Given the description of an element on the screen output the (x, y) to click on. 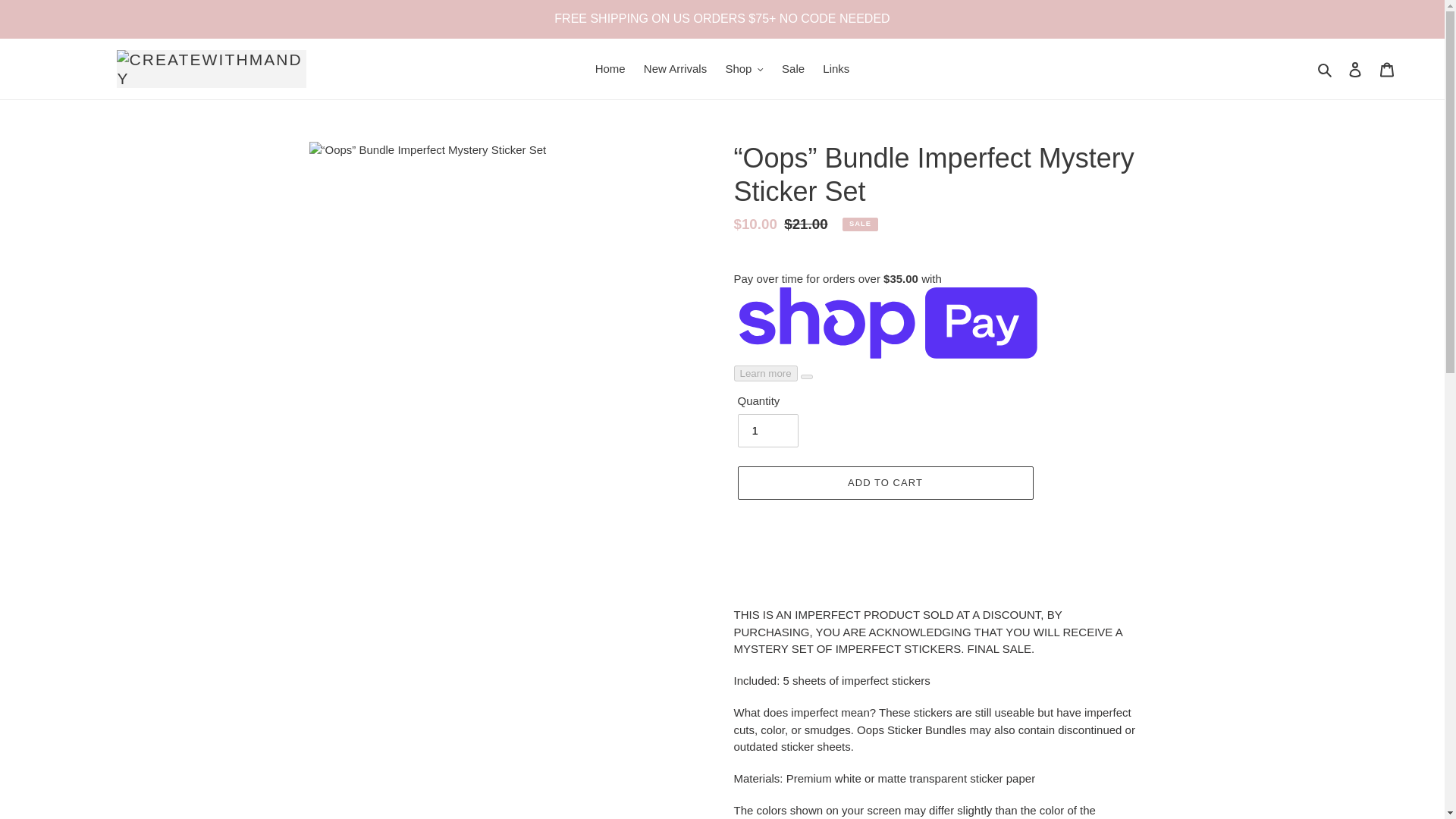
1 (766, 430)
Sale (793, 69)
Shop (744, 69)
Search (1326, 68)
New Arrivals (675, 69)
Home (610, 69)
Links (836, 69)
Cart (1387, 69)
Log in (1355, 69)
